Given the description of an element on the screen output the (x, y) to click on. 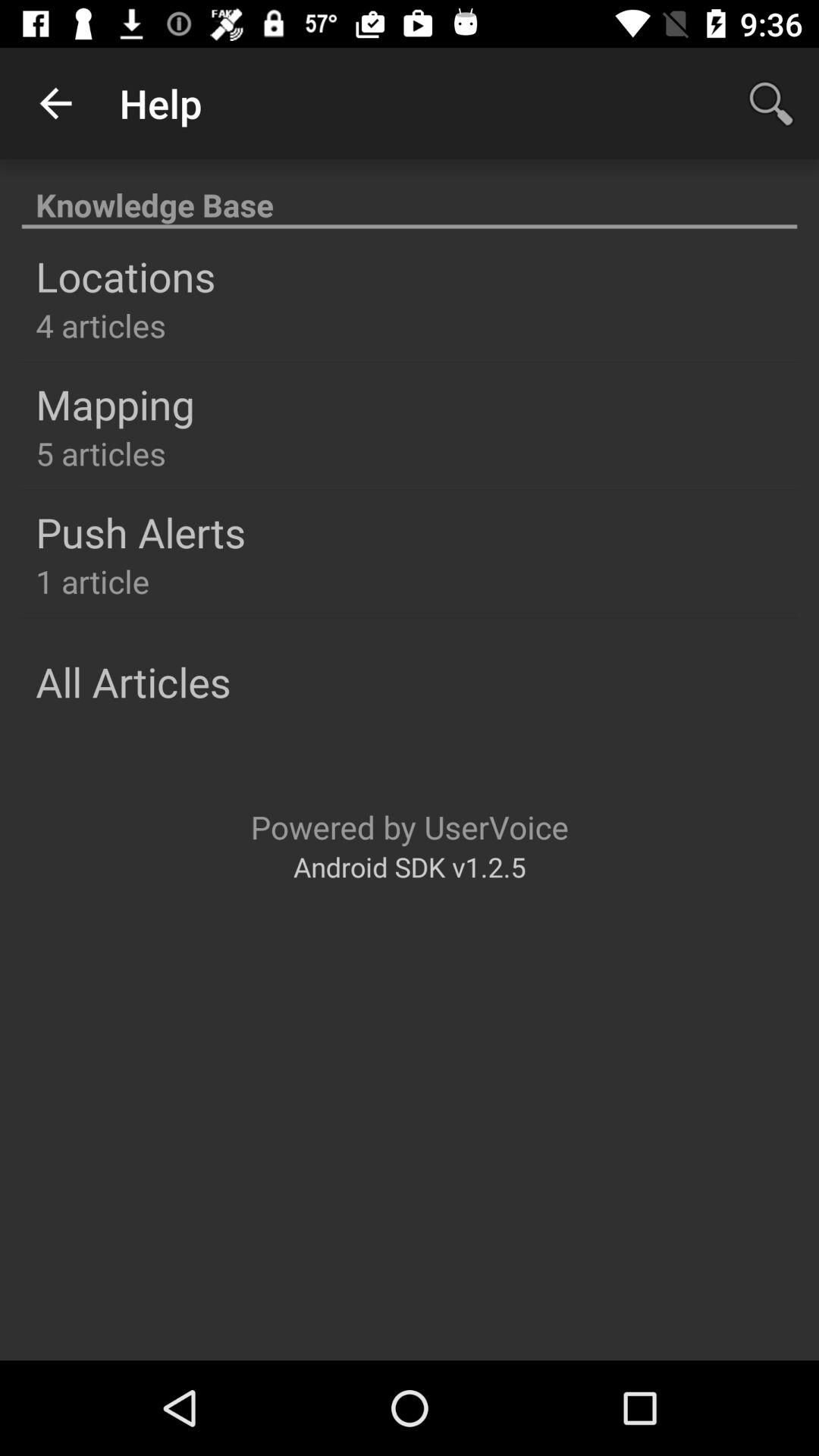
choose item below knowledge base (125, 275)
